Given the description of an element on the screen output the (x, y) to click on. 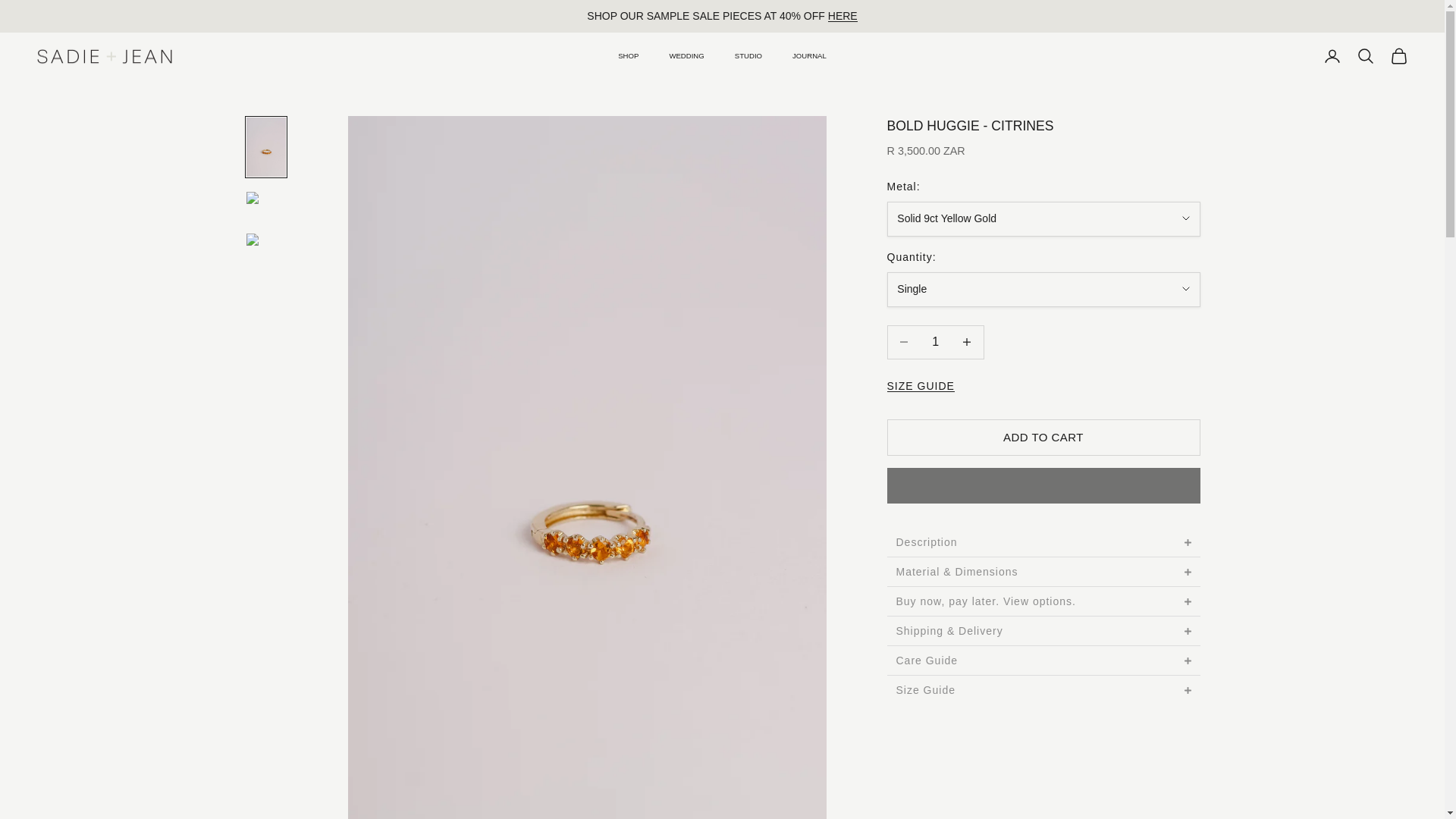
Sample Sale (842, 15)
Size Guide (920, 386)
HERE (842, 15)
1 (935, 341)
Open account page (1331, 55)
JOURNAL (809, 55)
Open cart (1398, 55)
Open search (1365, 55)
